Given the description of an element on the screen output the (x, y) to click on. 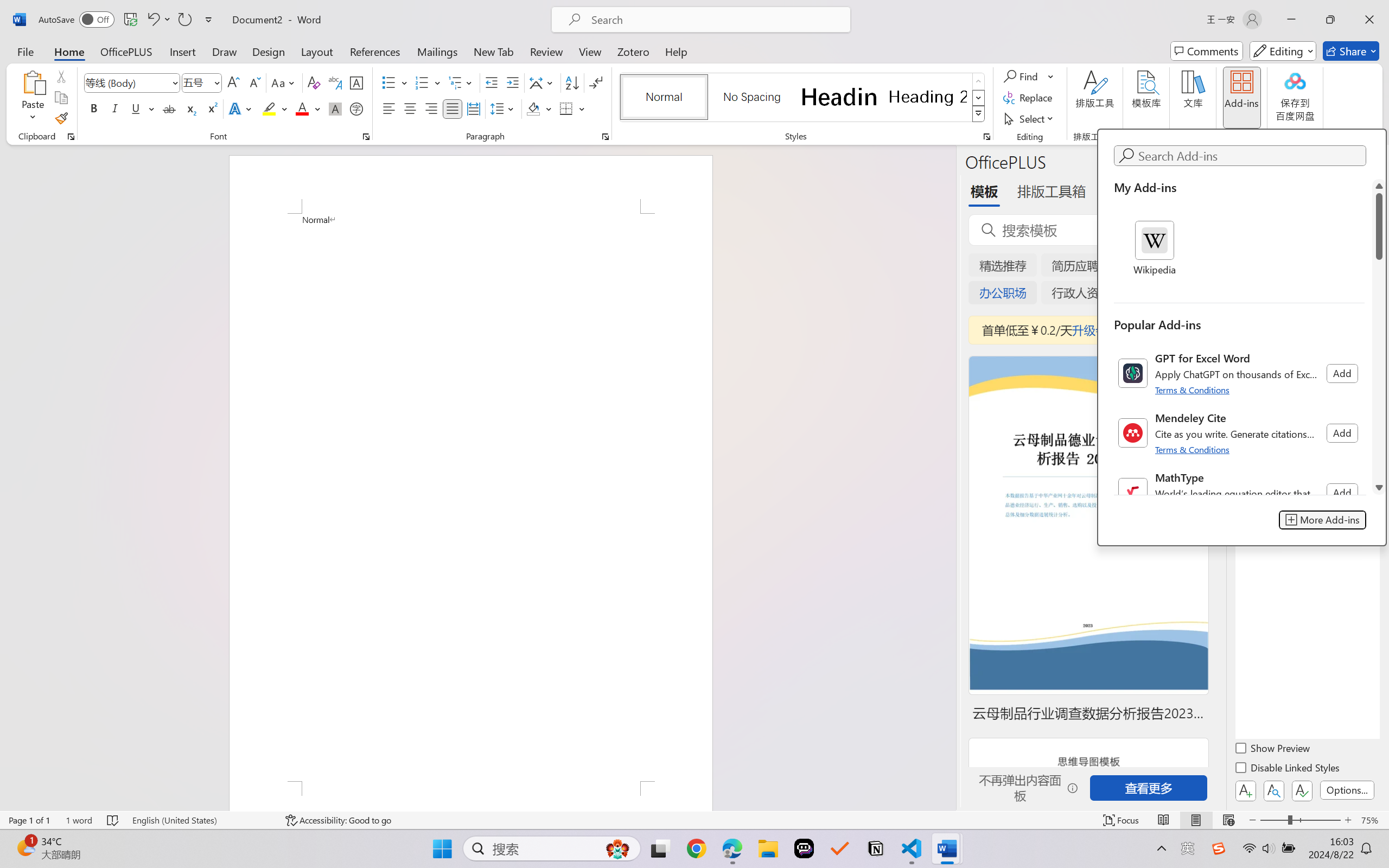
Accessibility Checker Accessibility: Good to go (338, 819)
Google Chrome (696, 848)
Focus  (1121, 819)
Home (69, 51)
Font Color (308, 108)
AutomationID: QuickStylesGallery (802, 97)
Word Count 1 word (78, 819)
Draw (224, 51)
Select (1030, 118)
Numbering (421, 82)
Text Highlight Color (274, 108)
Undo Apply Quick Style (152, 19)
Find (1022, 75)
More Options (1051, 75)
